Given the description of an element on the screen output the (x, y) to click on. 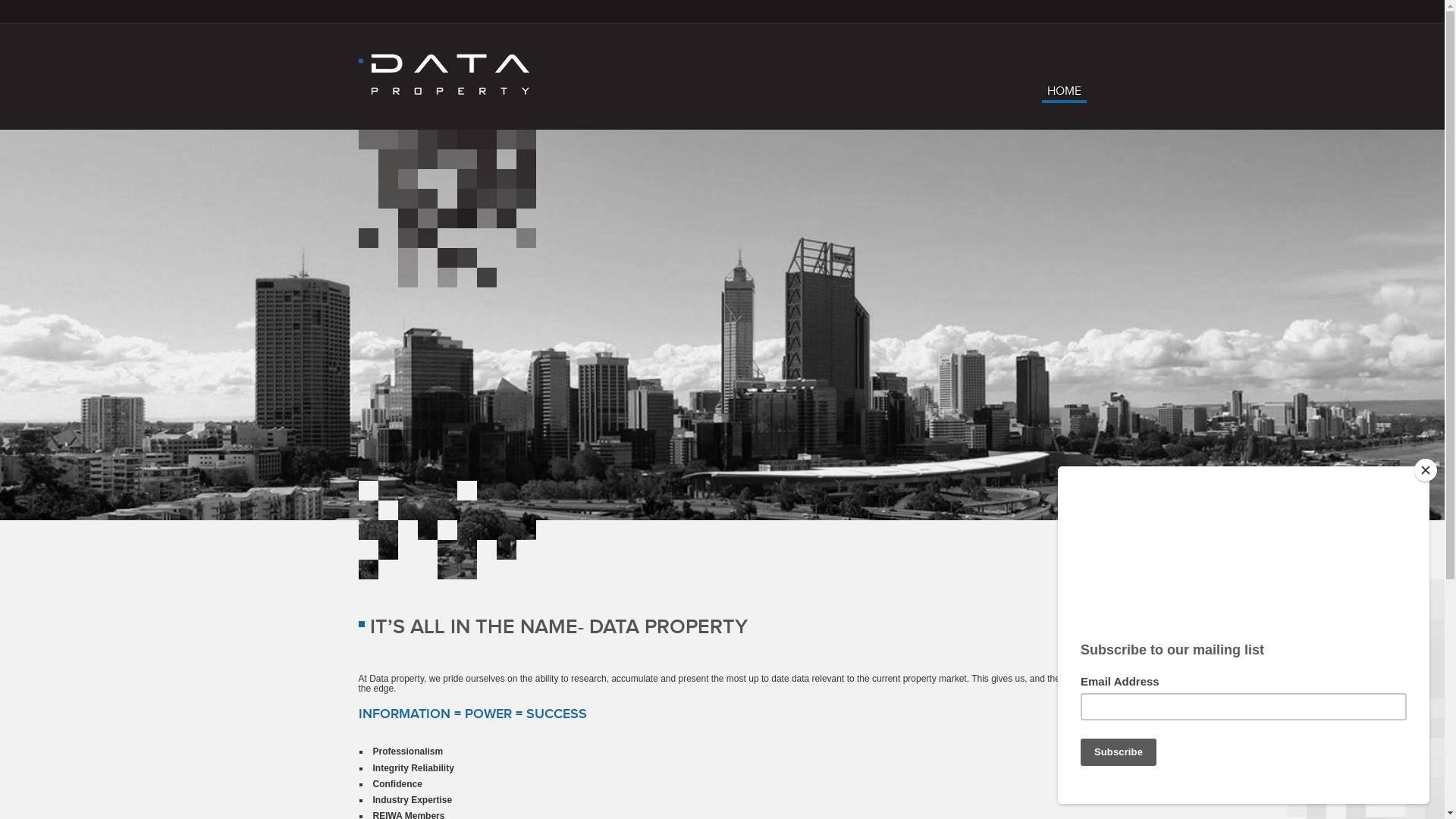
HOME Element type: text (1063, 94)
